Given the description of an element on the screen output the (x, y) to click on. 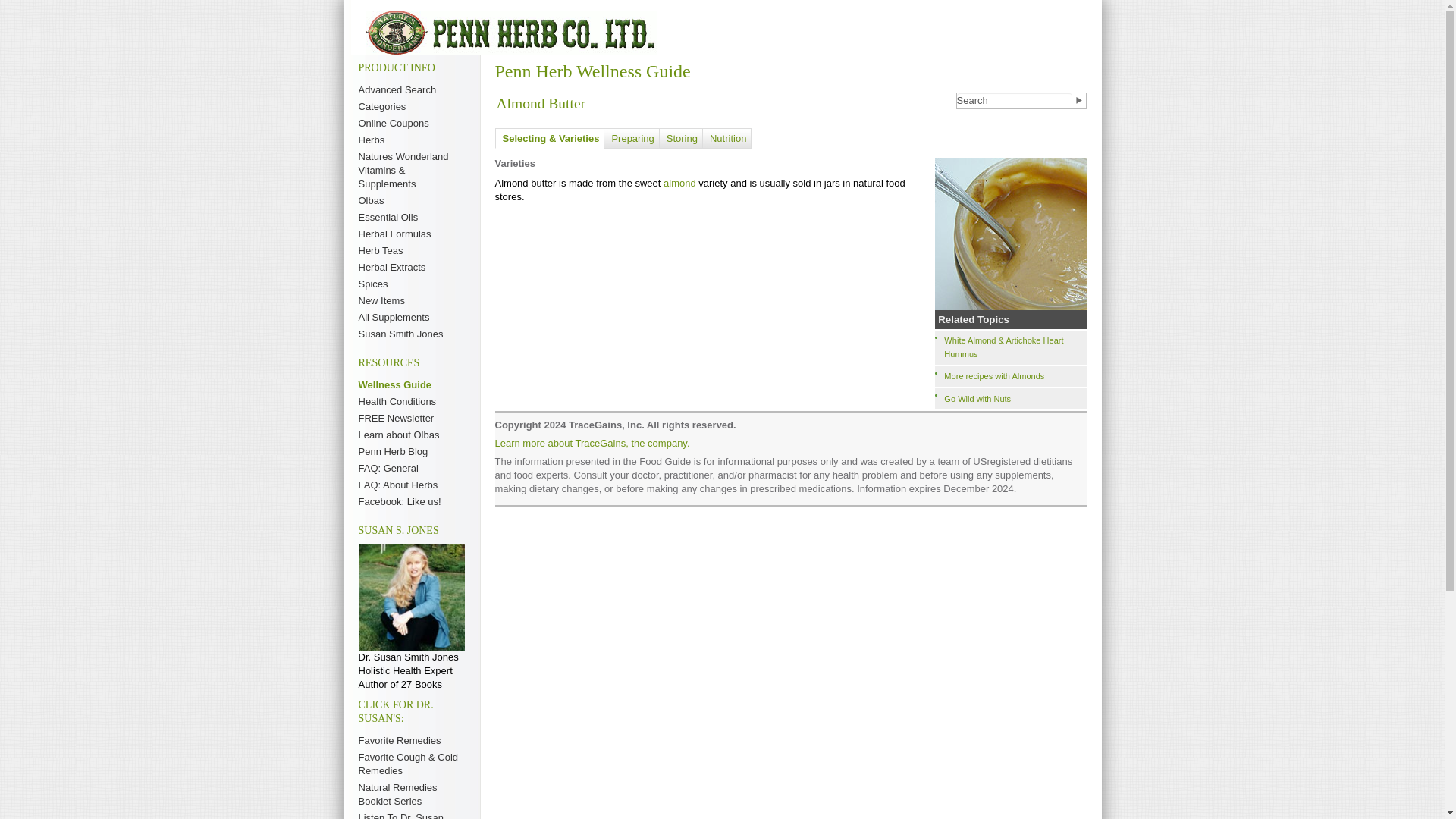
Search (1013, 100)
Penn Herb Co. Ltd. (510, 32)
Search (1013, 100)
